Given the description of an element on the screen output the (x, y) to click on. 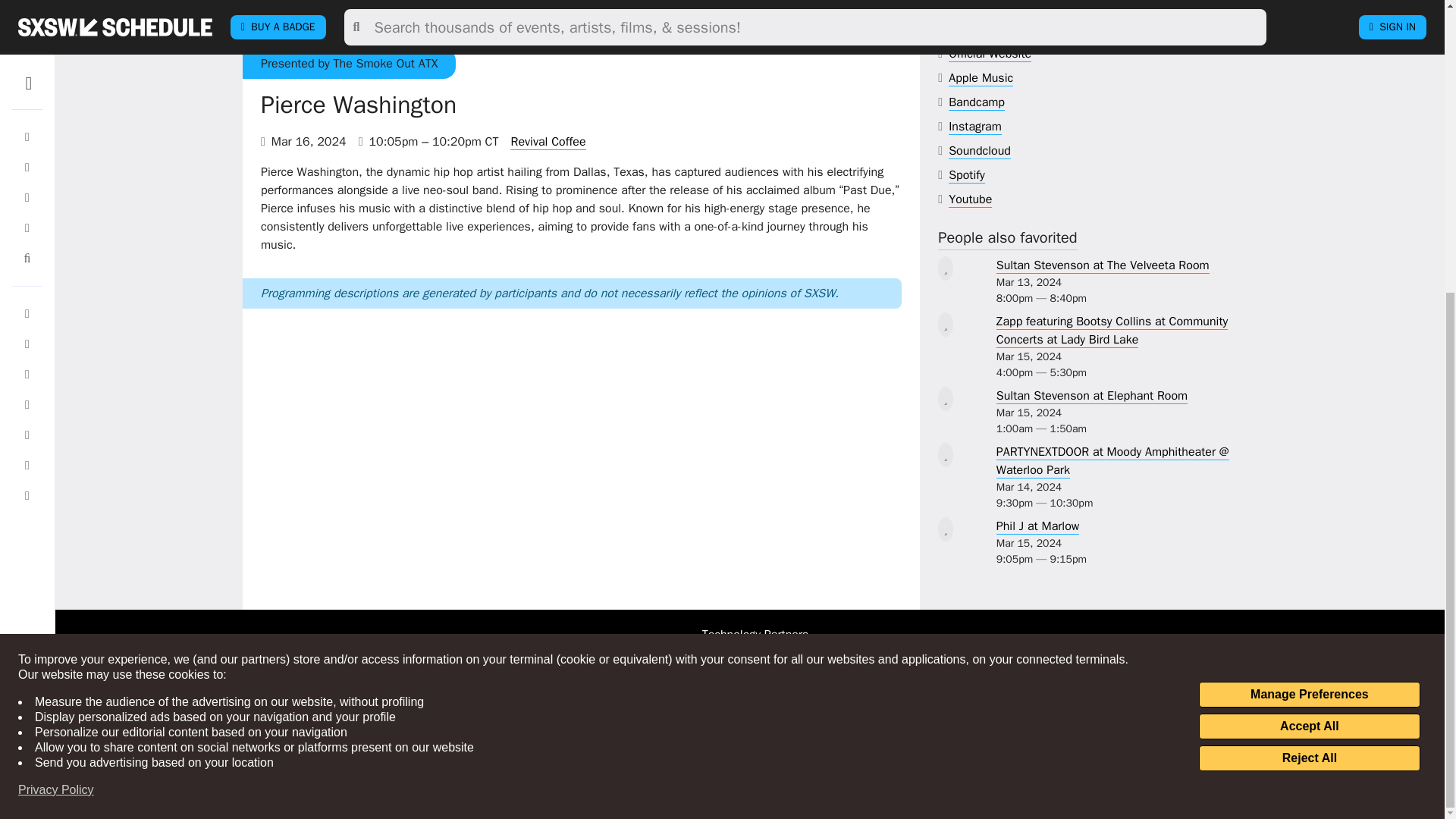
Accept All (1309, 279)
instagram (975, 126)
website (989, 53)
Manage Preferences (1309, 248)
apple (981, 78)
Reject All (1309, 311)
Privacy Policy (55, 343)
bandcamp (976, 102)
Presented by The Smoke Out ATX (349, 63)
Revival Coffee (548, 141)
